Given the description of an element on the screen output the (x, y) to click on. 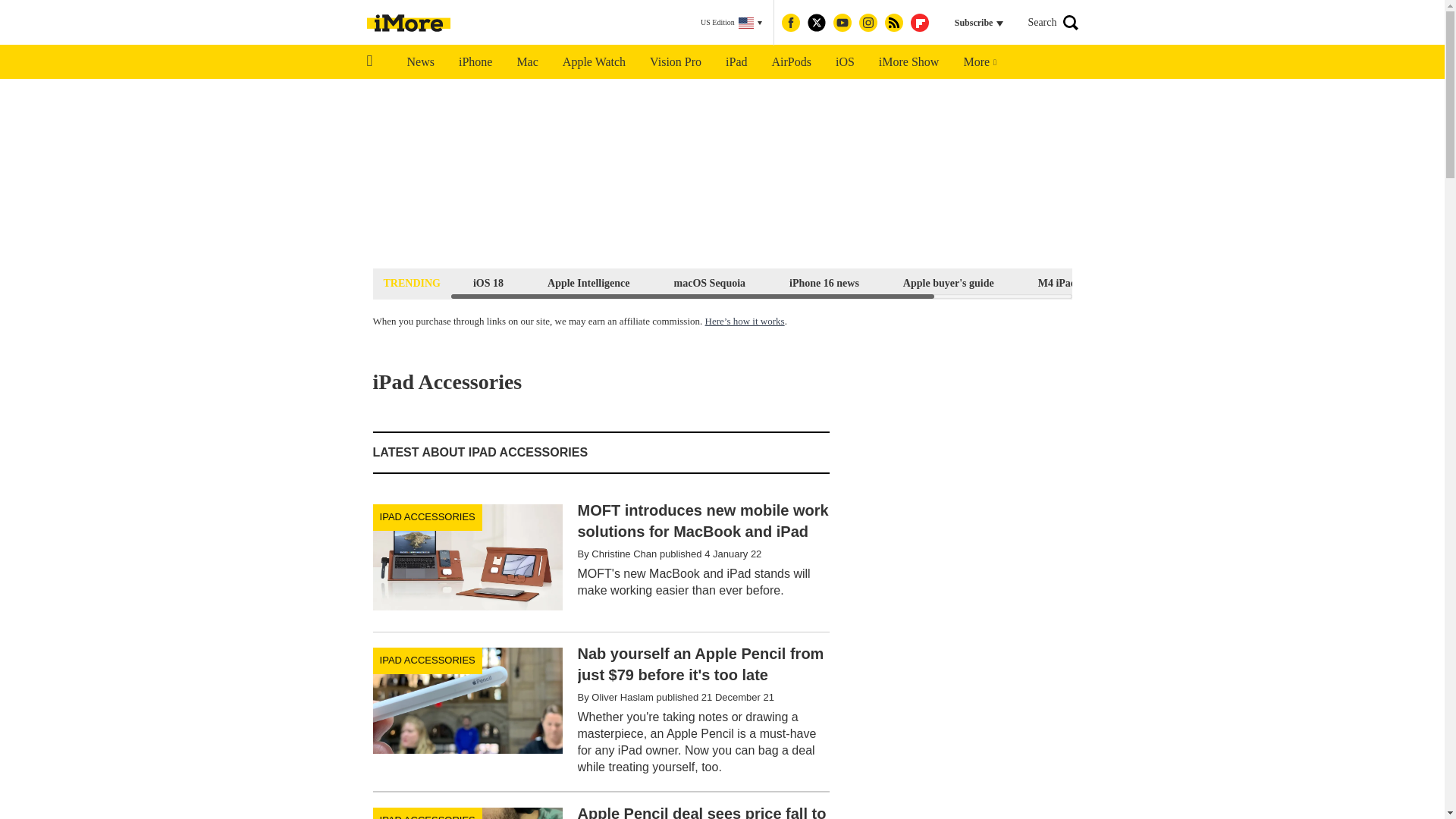
iPad (735, 61)
Mac (526, 61)
iOS (845, 61)
iMore Show (909, 61)
Apple Watch (593, 61)
iPhone (474, 61)
News (419, 61)
Vision Pro (675, 61)
US Edition (731, 22)
AirPods (792, 61)
